Given the description of an element on the screen output the (x, y) to click on. 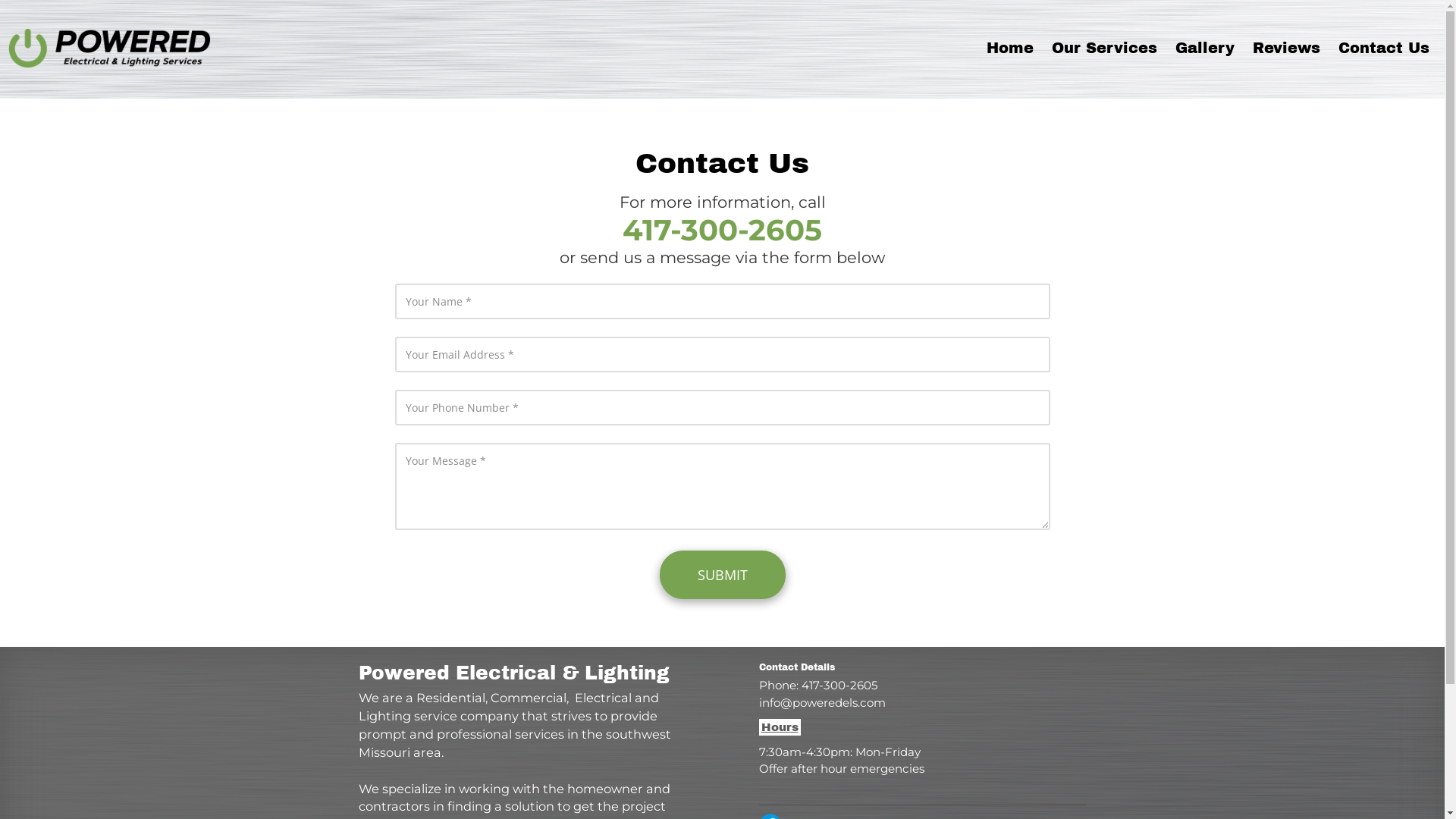
SUBMIT Element type: text (722, 574)
Our Services Element type: text (1104, 48)
Home Element type: text (1009, 48)
417-300-2605 Element type: text (838, 684)
417-300-2605 Element type: text (722, 236)
Gallery Element type: text (1204, 48)
Contact Us Element type: text (1383, 48)
info@poweredels.com Element type: text (821, 702)
Hours Element type: text (779, 726)
Reviews Element type: text (1286, 48)
